Given the description of an element on the screen output the (x, y) to click on. 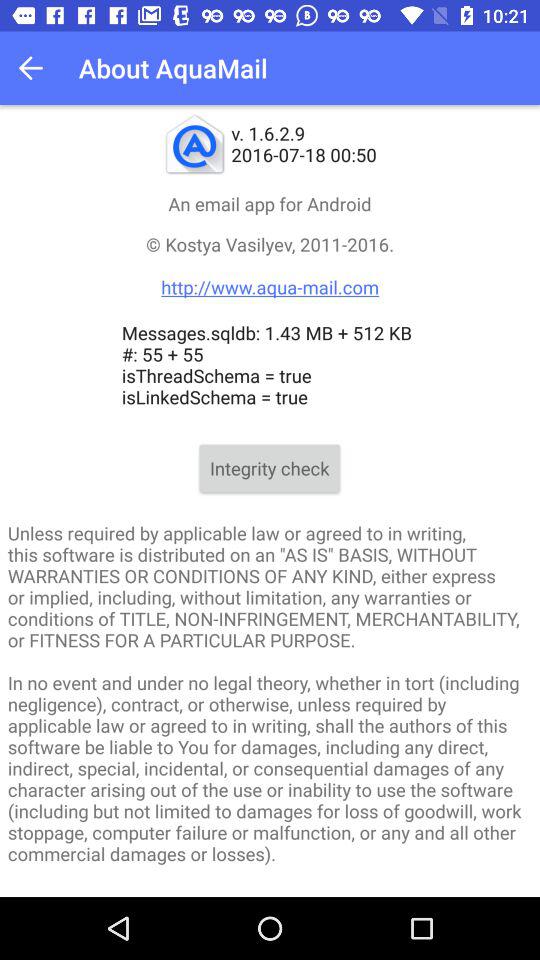
turn off the third party licenses (269, 891)
